Given the description of an element on the screen output the (x, y) to click on. 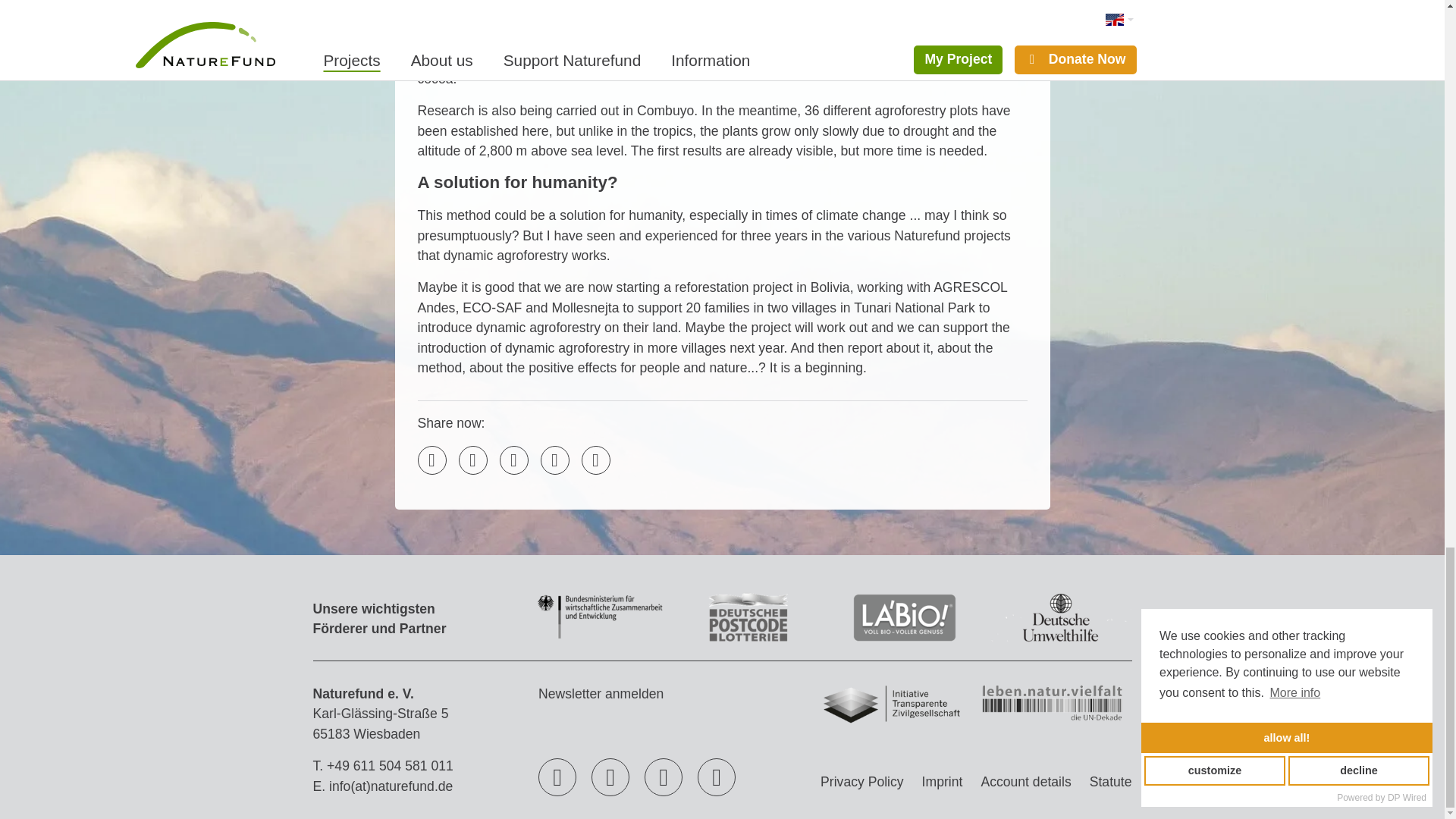
Facebook (472, 459)
Facebook (557, 777)
LinkedIn (513, 459)
Instragram (663, 777)
YouTube (609, 777)
Email (430, 459)
Deutsche Umwelthilfe (1060, 638)
Privacy Policy (861, 781)
Telegram (554, 459)
WhatsApp (595, 459)
